Given the description of an element on the screen output the (x, y) to click on. 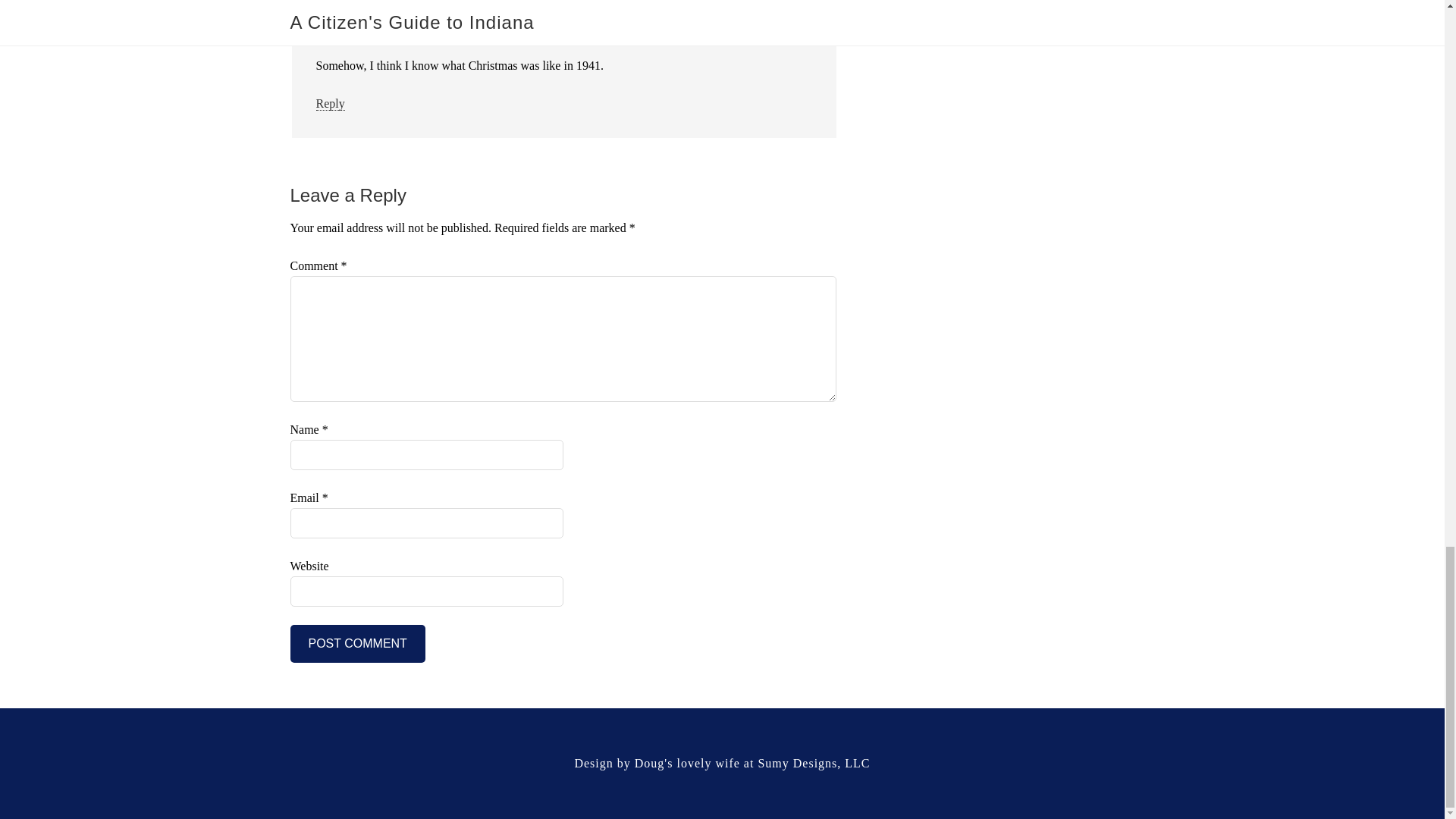
Sumy Designs, LLC (813, 762)
Post Comment (357, 643)
Reply (329, 103)
Post Comment (357, 643)
